Given the description of an element on the screen output the (x, y) to click on. 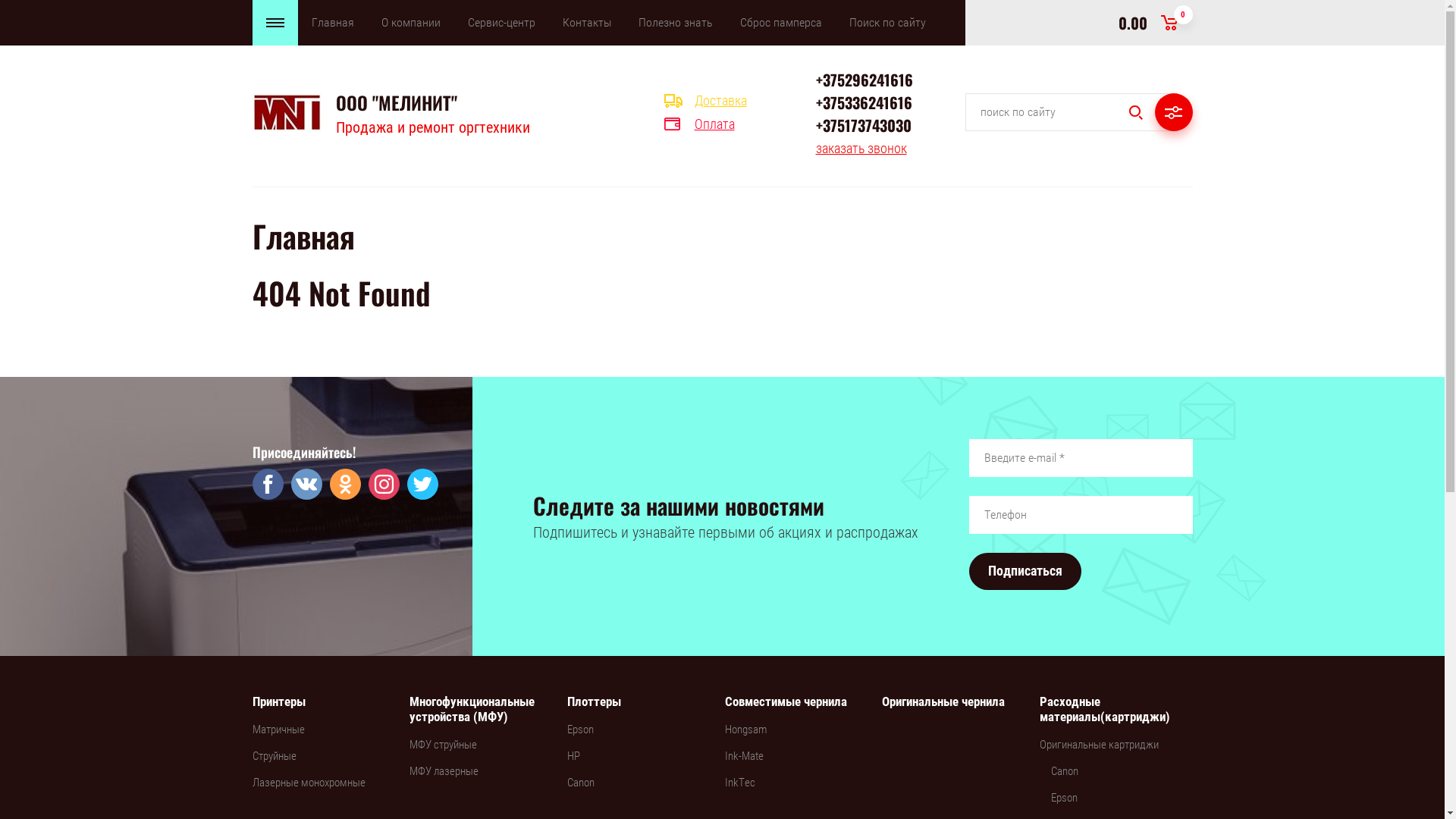
Ink-Mate Element type: text (743, 756)
Epson Element type: text (580, 729)
+375173743030 Element type: text (863, 124)
Epson Element type: text (1064, 797)
InkTec Element type: text (739, 782)
0.00
0 Element type: text (1154, 22)
+375336241616 Element type: text (863, 102)
HP Element type: text (573, 756)
Hongsam Element type: text (745, 729)
Canon Element type: text (580, 782)
+375296241616 Element type: text (864, 79)
Canon Element type: text (1064, 771)
